Given the description of an element on the screen output the (x, y) to click on. 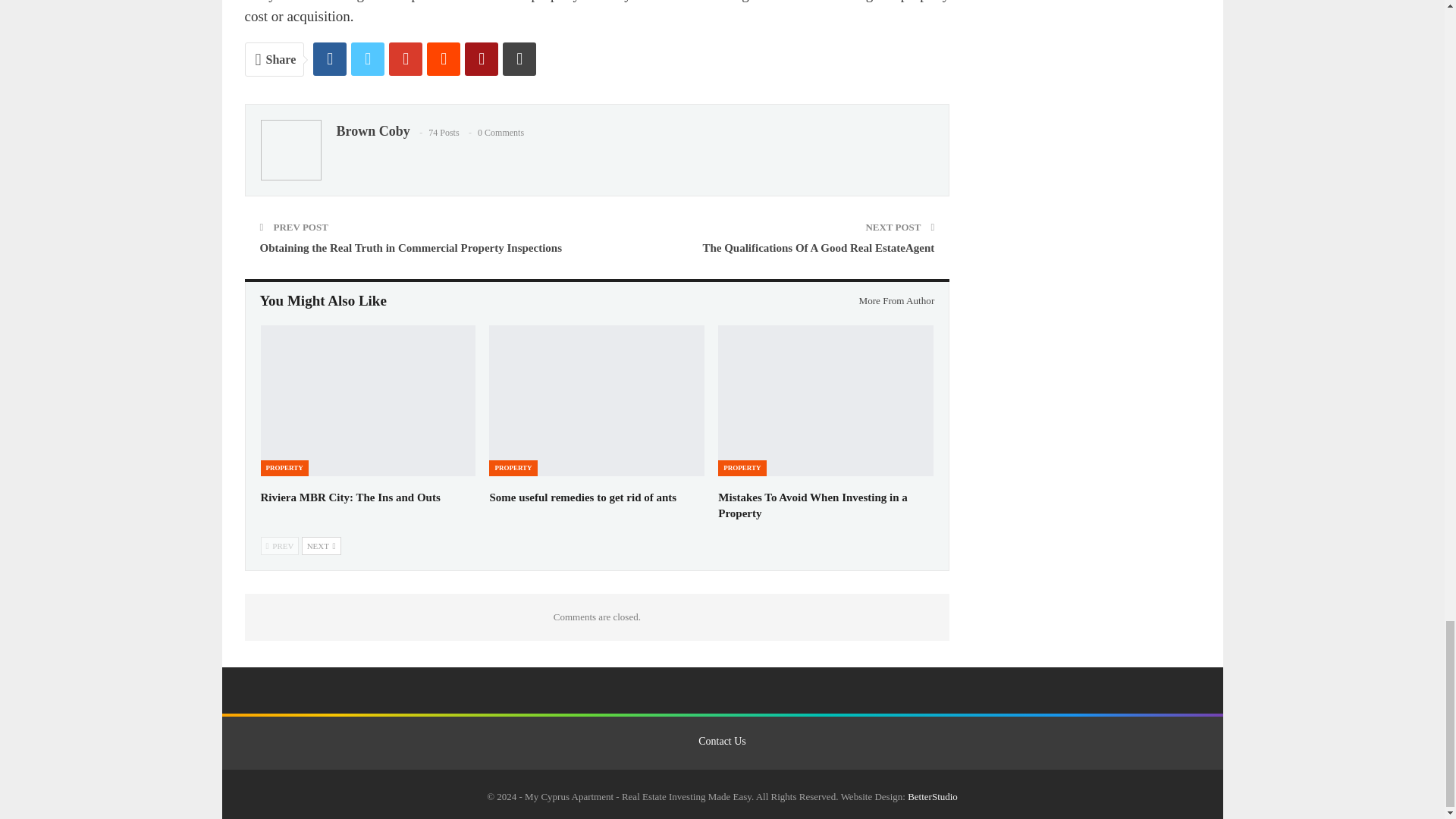
Mistakes To Avoid When Investing in a Property (825, 400)
Obtaining the Real Truth in Commercial Property Inspections (409, 247)
You Might Also Like (322, 300)
The Qualifications Of A Good Real EstateAgent (817, 247)
Riviera MBR City: The Ins and Outs (350, 497)
Riviera MBR City: The Ins and Outs (368, 400)
Brown Coby (373, 130)
Previous (279, 546)
Some useful remedies to get rid of ants (583, 497)
Some useful remedies to get rid of ants (596, 400)
Next (320, 546)
Mistakes To Avoid When Investing in a Property (812, 505)
